Given the description of an element on the screen output the (x, y) to click on. 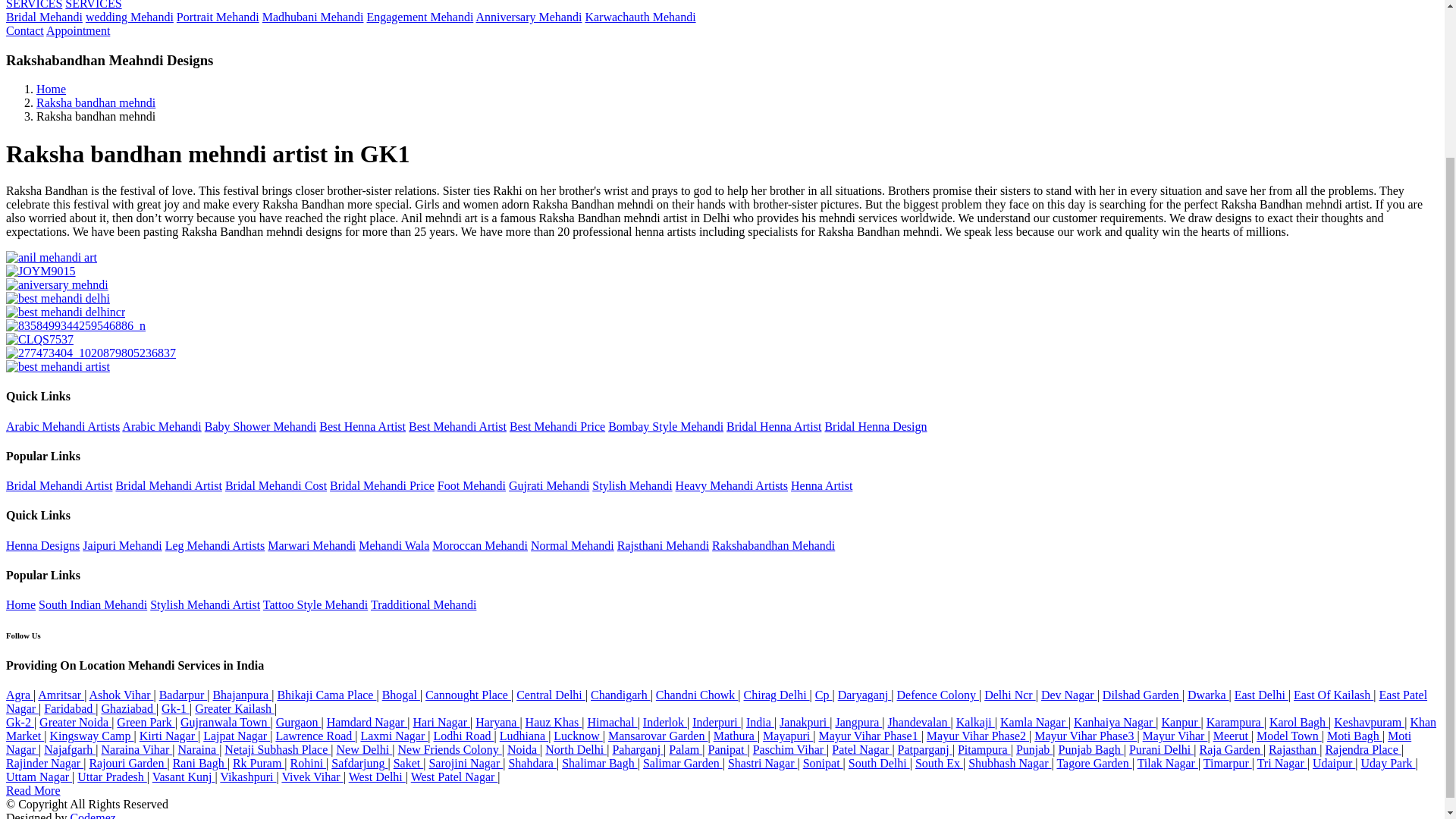
Arabic Mehandi Artists (62, 426)
best mehandi delh (57, 298)
Anniversary Mehandi (528, 16)
Bridal Henna Artist (773, 426)
best mehandi delhinc (65, 312)
Bombay Style Mehandi (665, 426)
Baby Shower Mehandi (261, 426)
CLQS753 (39, 339)
best mehandi artis (57, 366)
Arabic Mehandi (161, 426)
Portrait Mehandi (217, 16)
Raksha bandhan mehndi (95, 102)
anil mehandi ar (51, 257)
SERVICES (92, 4)
aniversary mehnd (56, 284)
